Given the description of an element on the screen output the (x, y) to click on. 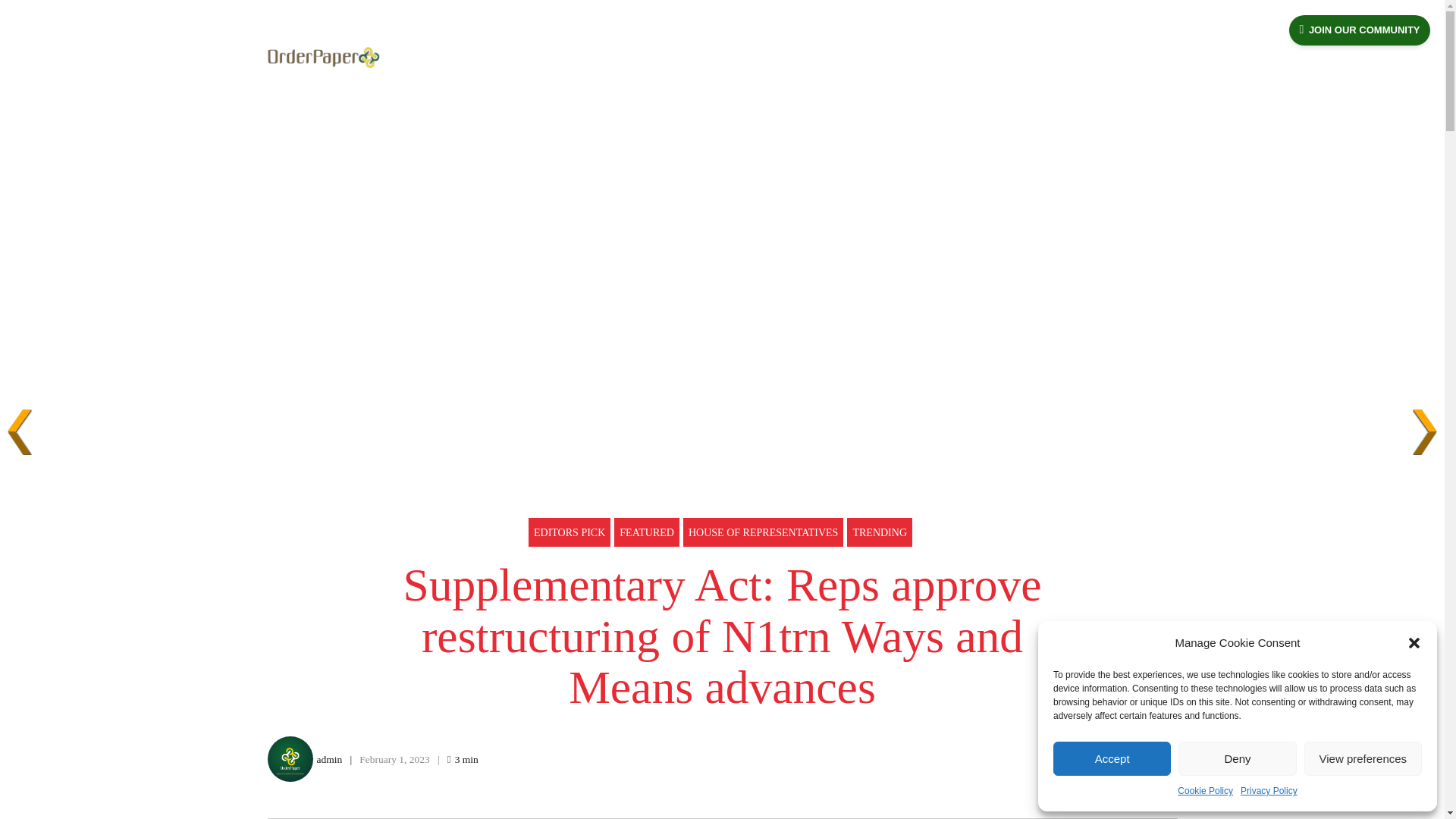
Share on Linkedin (1130, 760)
Share on Twitter (1100, 760)
State Assemblies (662, 57)
Share on WhatsApp (1162, 760)
Accept (1111, 758)
Share on Facebook (1069, 760)
View preferences (1363, 758)
Cookie Policy (1205, 791)
Privacy Policy (1268, 791)
Deny (1236, 758)
